Given the description of an element on the screen output the (x, y) to click on. 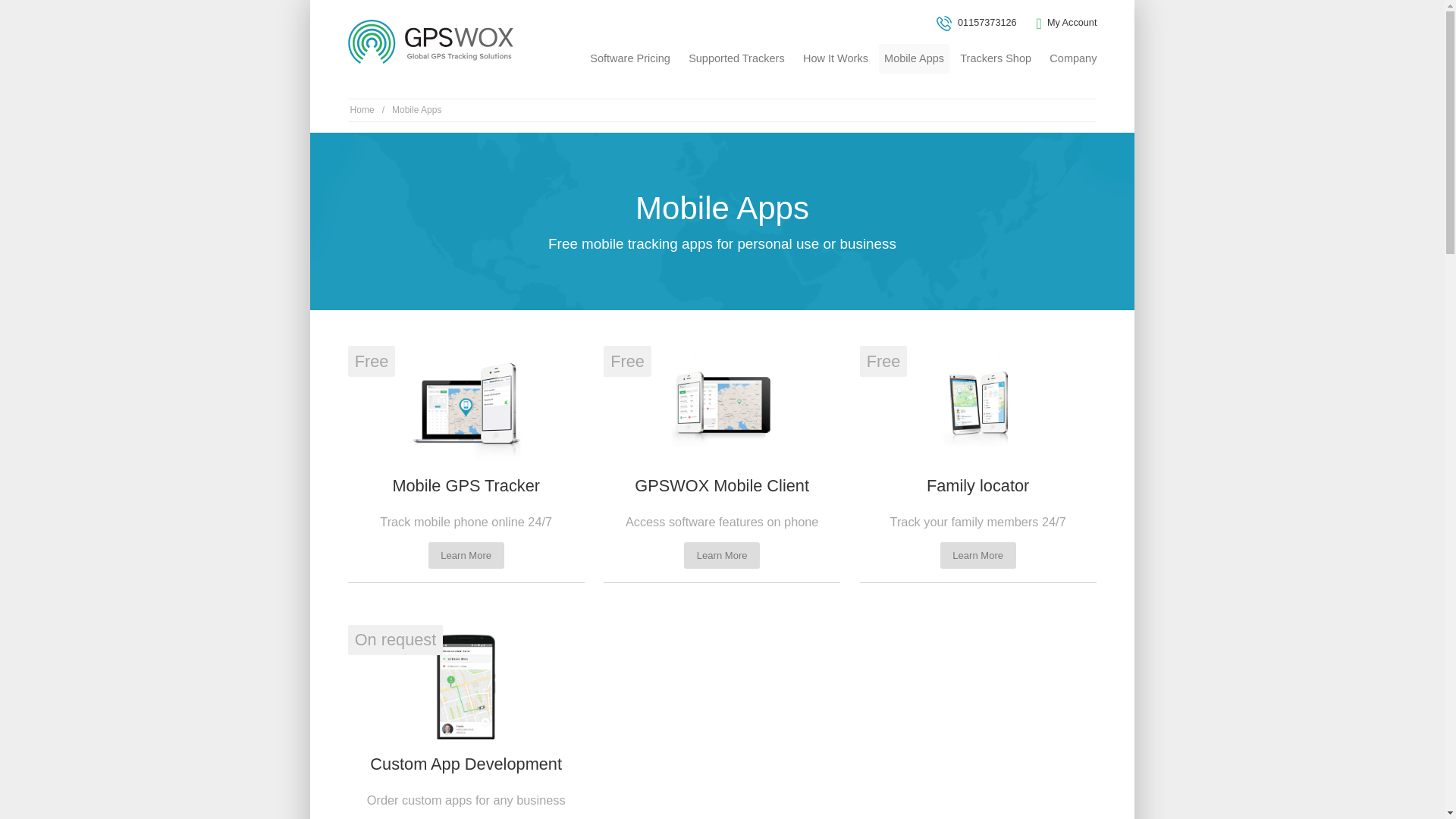
Software Pricing (629, 58)
Company (1072, 58)
Mobile Apps (913, 58)
Press for more details (722, 464)
How It Works (835, 58)
Press for more details (466, 721)
Home (362, 109)
Trackers Shop (994, 58)
Trackers Shop (994, 58)
Supported Trackers (736, 58)
Press for more details (978, 464)
GPS tracking server, software, system (432, 41)
Supported Trackers (736, 58)
01157373126 (976, 22)
How It Works (835, 58)
